Given the description of an element on the screen output the (x, y) to click on. 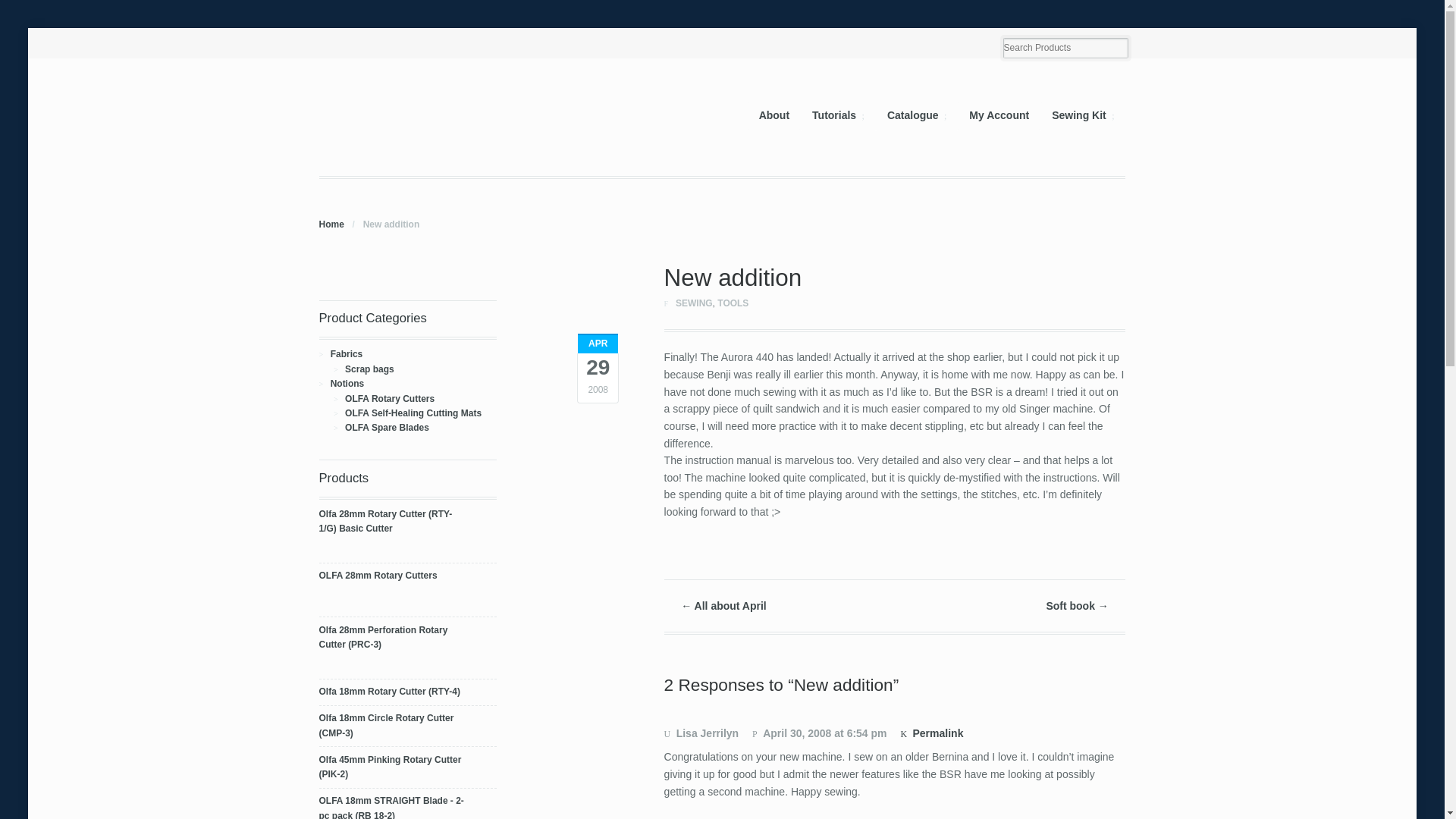
OLFA Spare Blades (387, 427)
Scrap bags (369, 368)
OLFA Self-Healing Cutting Mats (413, 412)
SEWING (694, 303)
Midnight Crafts (330, 224)
Catalogue (917, 115)
Tutorials (838, 115)
Direct link to this comment (930, 733)
Permalink (930, 733)
Fabrics (346, 353)
